Given the description of an element on the screen output the (x, y) to click on. 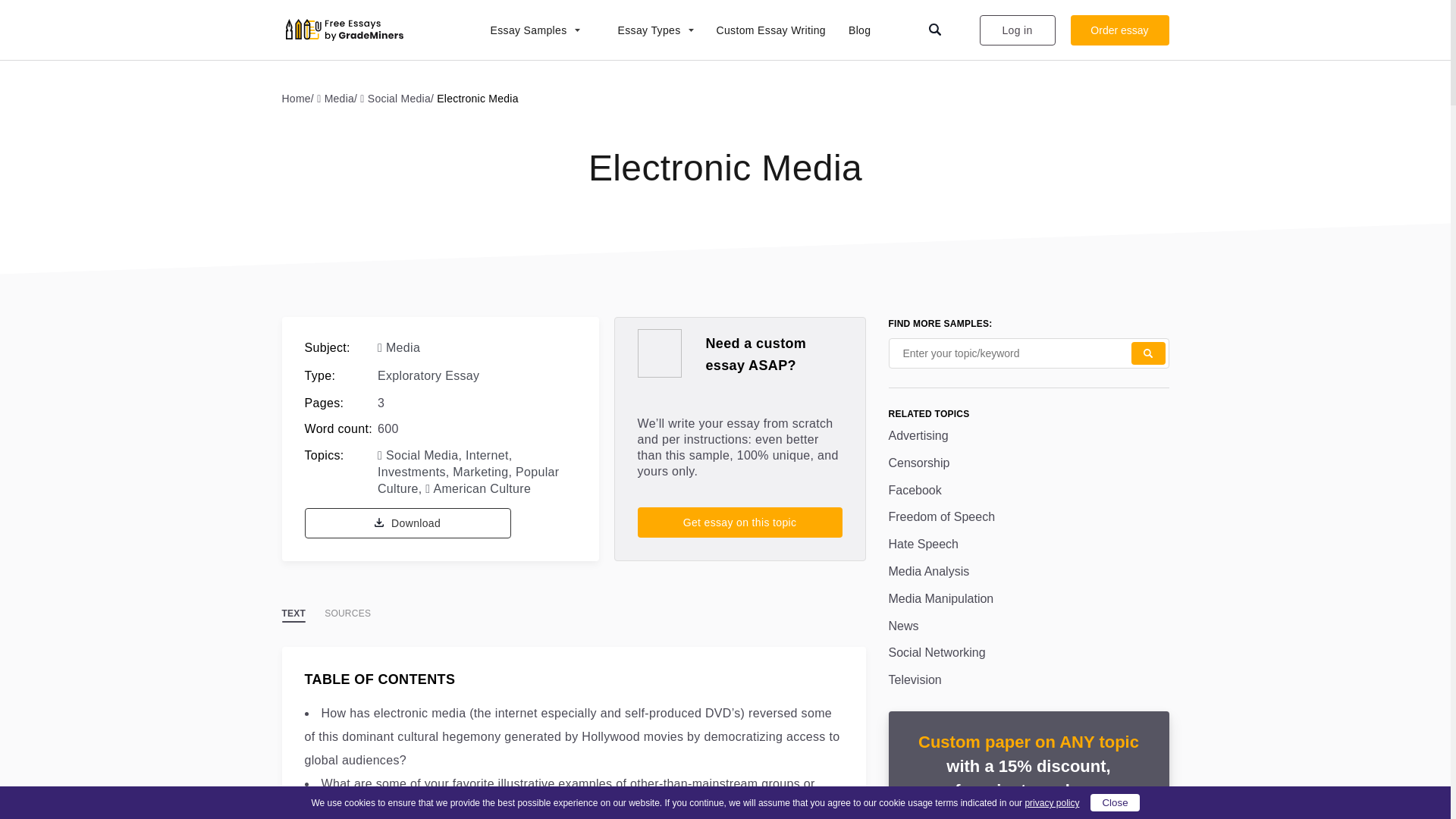
Go to Examples. (299, 97)
Search (1148, 353)
Essay Samples (526, 30)
Essay Types (648, 30)
